Given the description of an element on the screen output the (x, y) to click on. 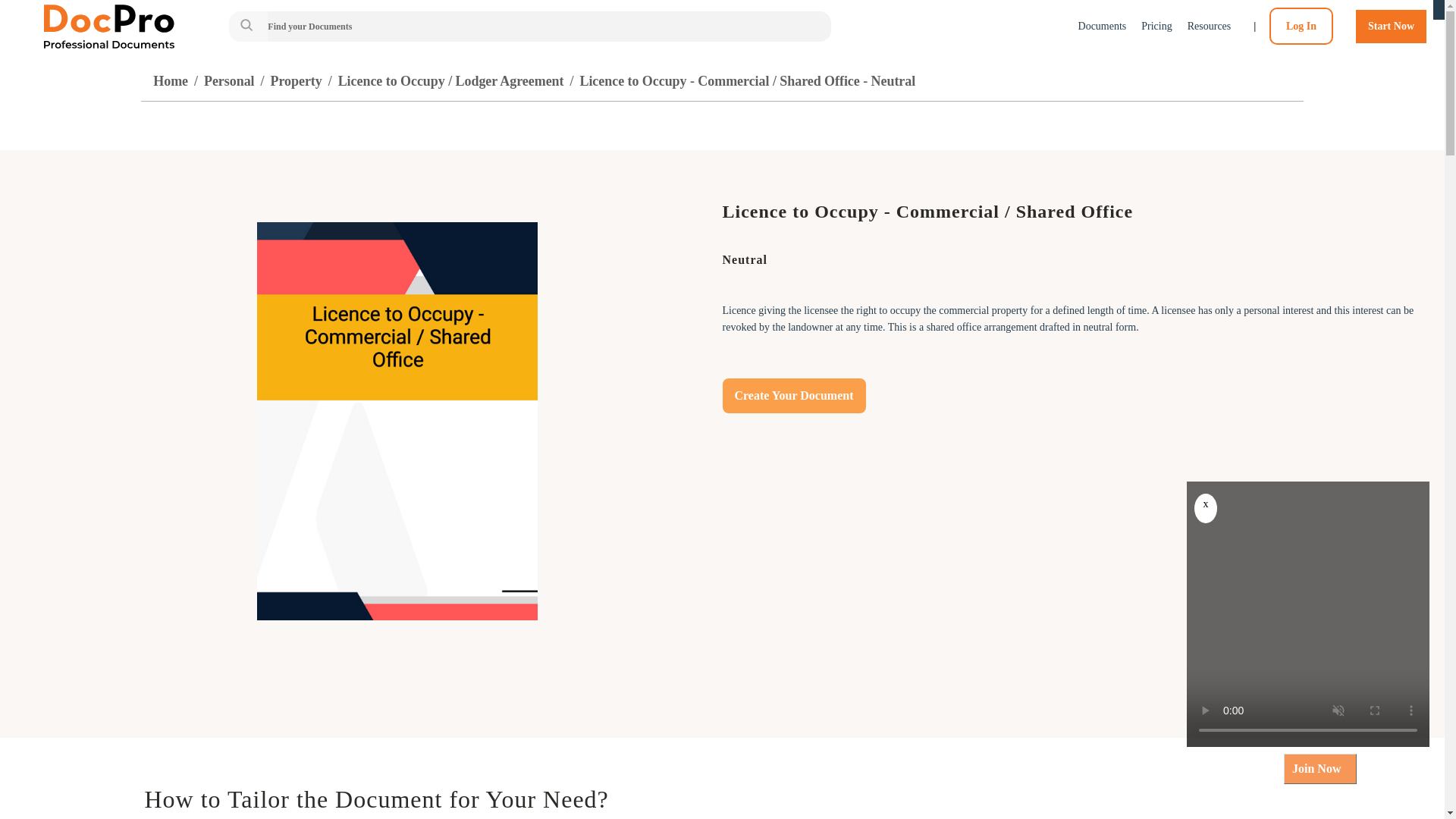
Pricing (1156, 26)
Log In (1301, 26)
Documents (1102, 26)
Join Now (1320, 768)
Home (169, 80)
Start Now (1390, 26)
Resources (1209, 26)
Create Your Document (793, 395)
Property (295, 80)
Personal (228, 80)
